Given the description of an element on the screen output the (x, y) to click on. 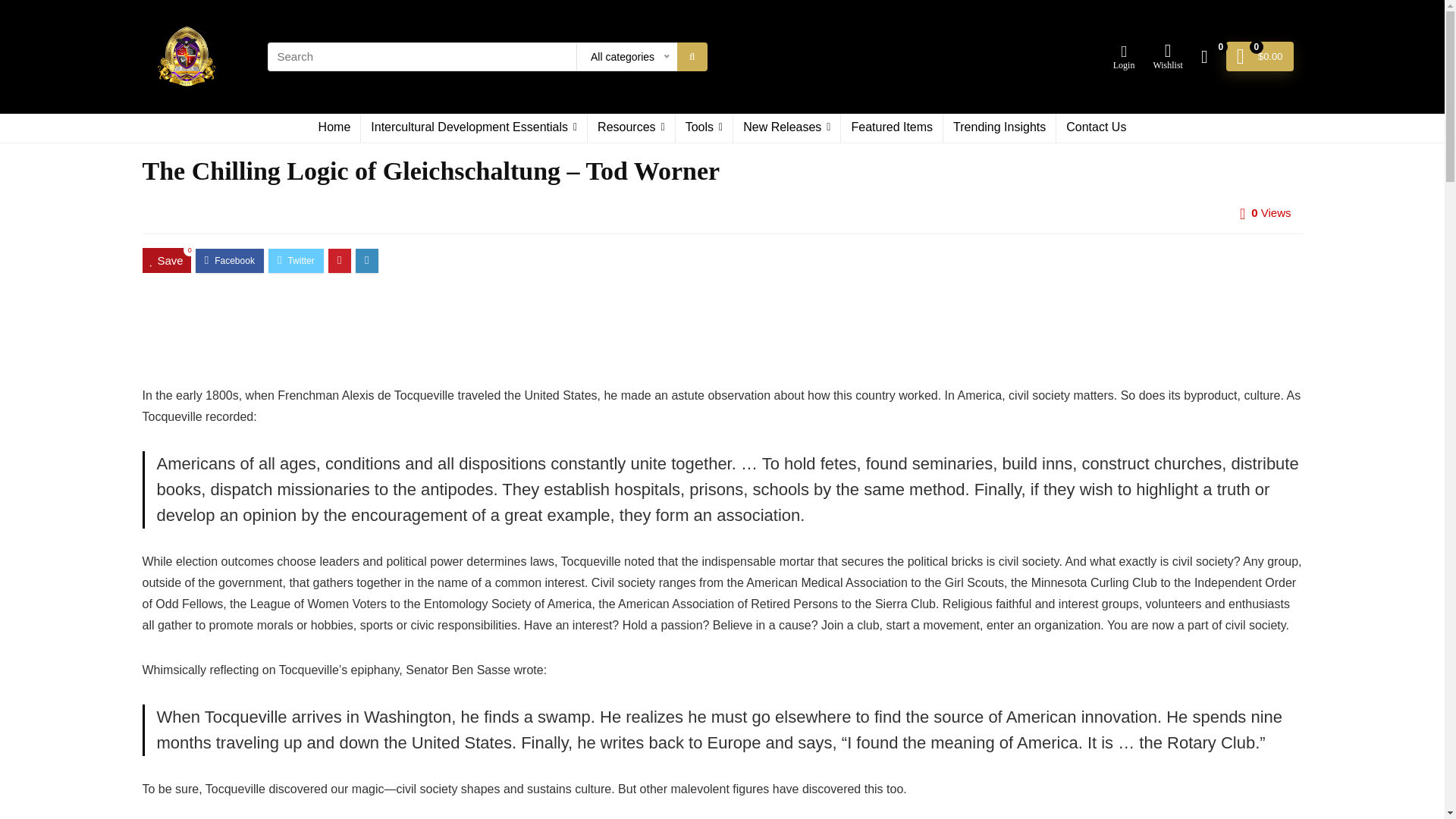
Trending Insights (999, 127)
New Releases (786, 127)
Intercultural Development Essentials (473, 127)
Featured Items (891, 127)
Tools (703, 127)
Resources (631, 127)
Contact Us (1096, 127)
Home (334, 127)
